Given the description of an element on the screen output the (x, y) to click on. 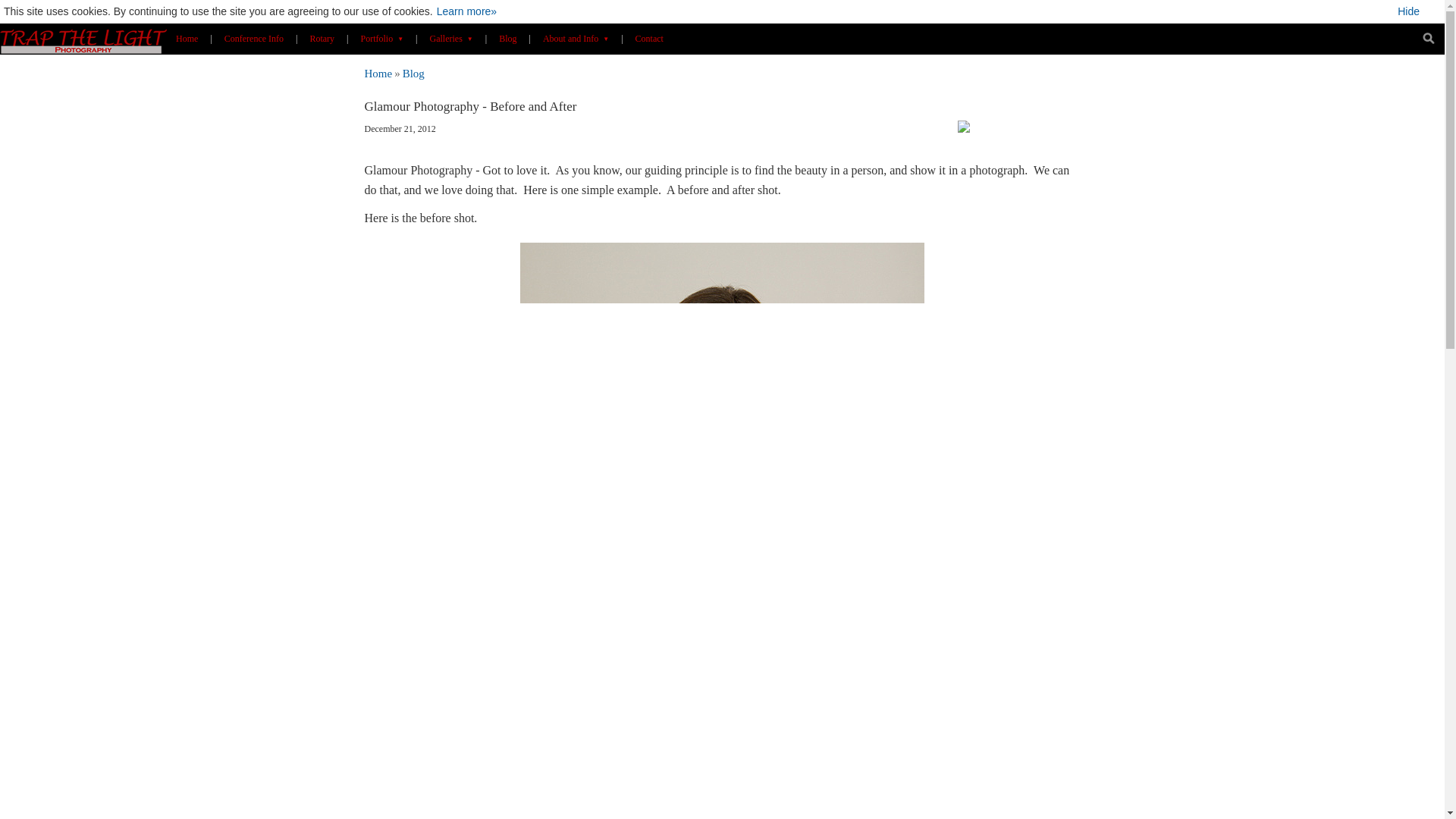
Rotary (321, 38)
Trap The Light Photography (83, 38)
Blog (507, 38)
Hide (1419, 11)
Blog (414, 73)
Home (377, 73)
Trap The Light Photography (377, 73)
Contact (649, 38)
Home (186, 38)
Conference Info (253, 38)
